Given the description of an element on the screen output the (x, y) to click on. 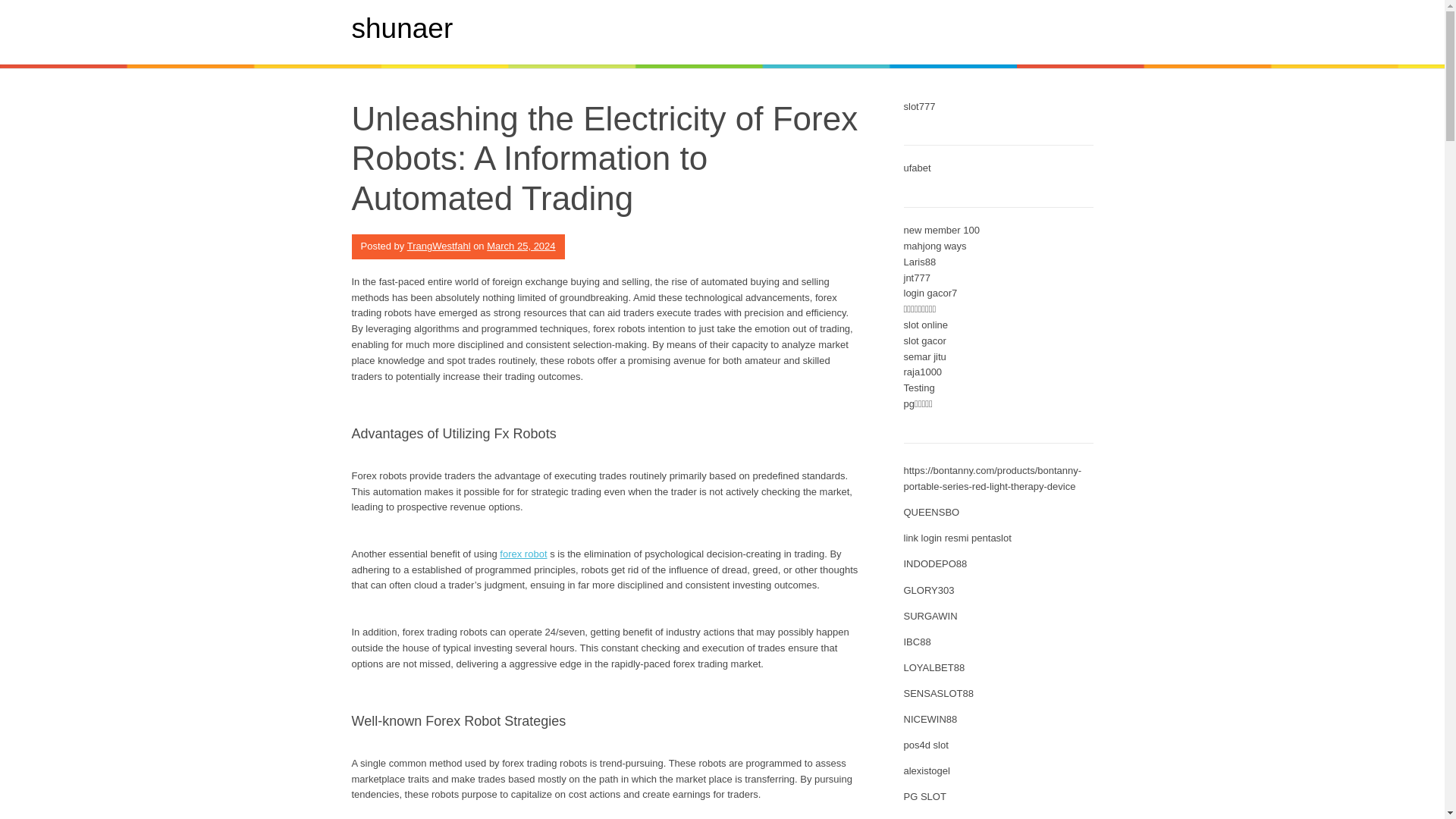
login gacor7 (931, 292)
IBC88 (917, 641)
Skip to content (32, 7)
QUEENSBO (931, 511)
new member 100 (941, 229)
SENSASLOT88 (939, 693)
link login resmi pentaslot (957, 537)
PG SLOT (925, 796)
pos4d slot (926, 745)
LOYALBET88 (934, 667)
alexistogel (927, 770)
GLORY303 (929, 590)
slot online (926, 324)
ufabet (917, 167)
slot777 (920, 106)
